Given the description of an element on the screen output the (x, y) to click on. 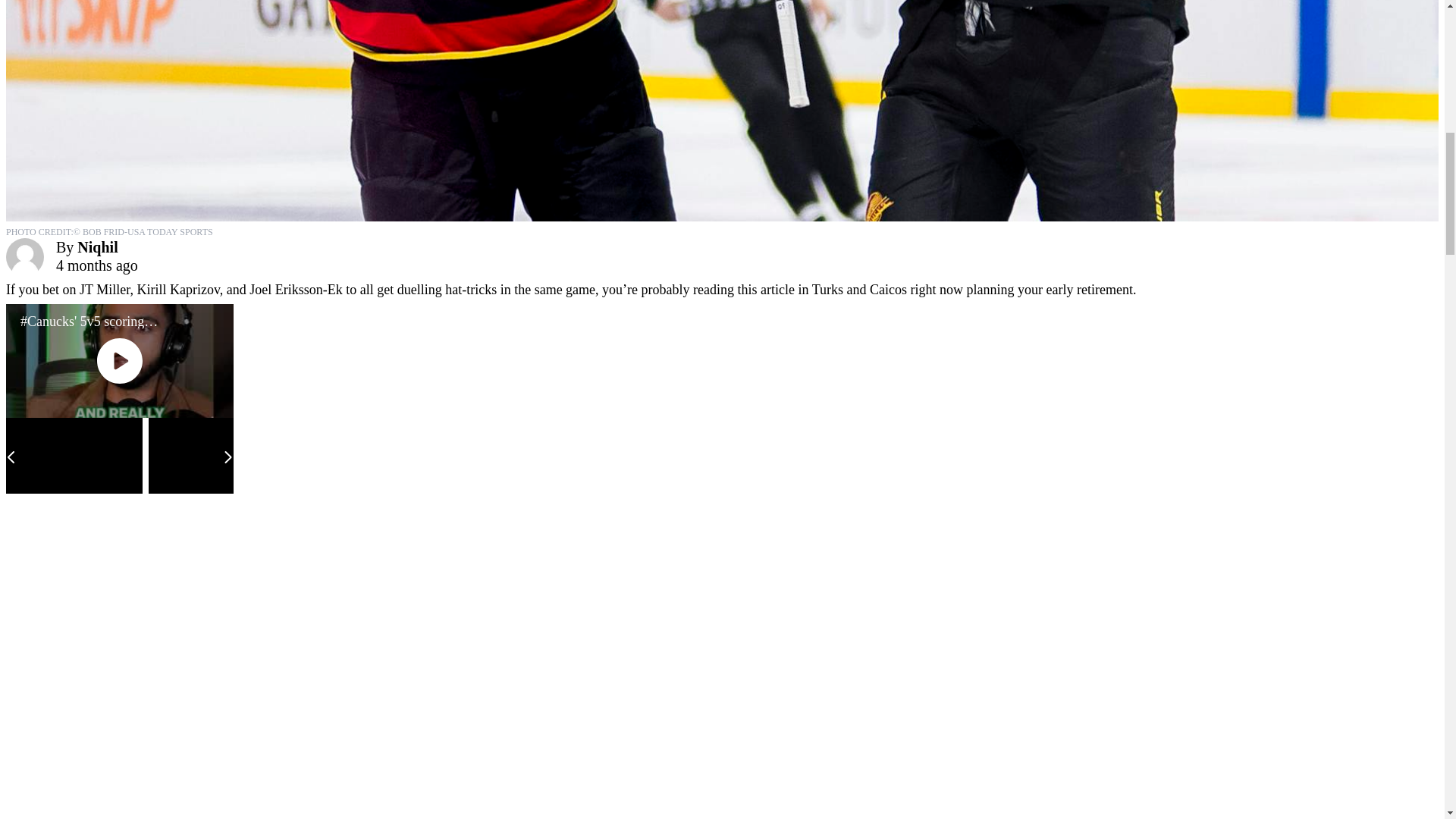
Niqhil (97, 247)
